Given the description of an element on the screen output the (x, y) to click on. 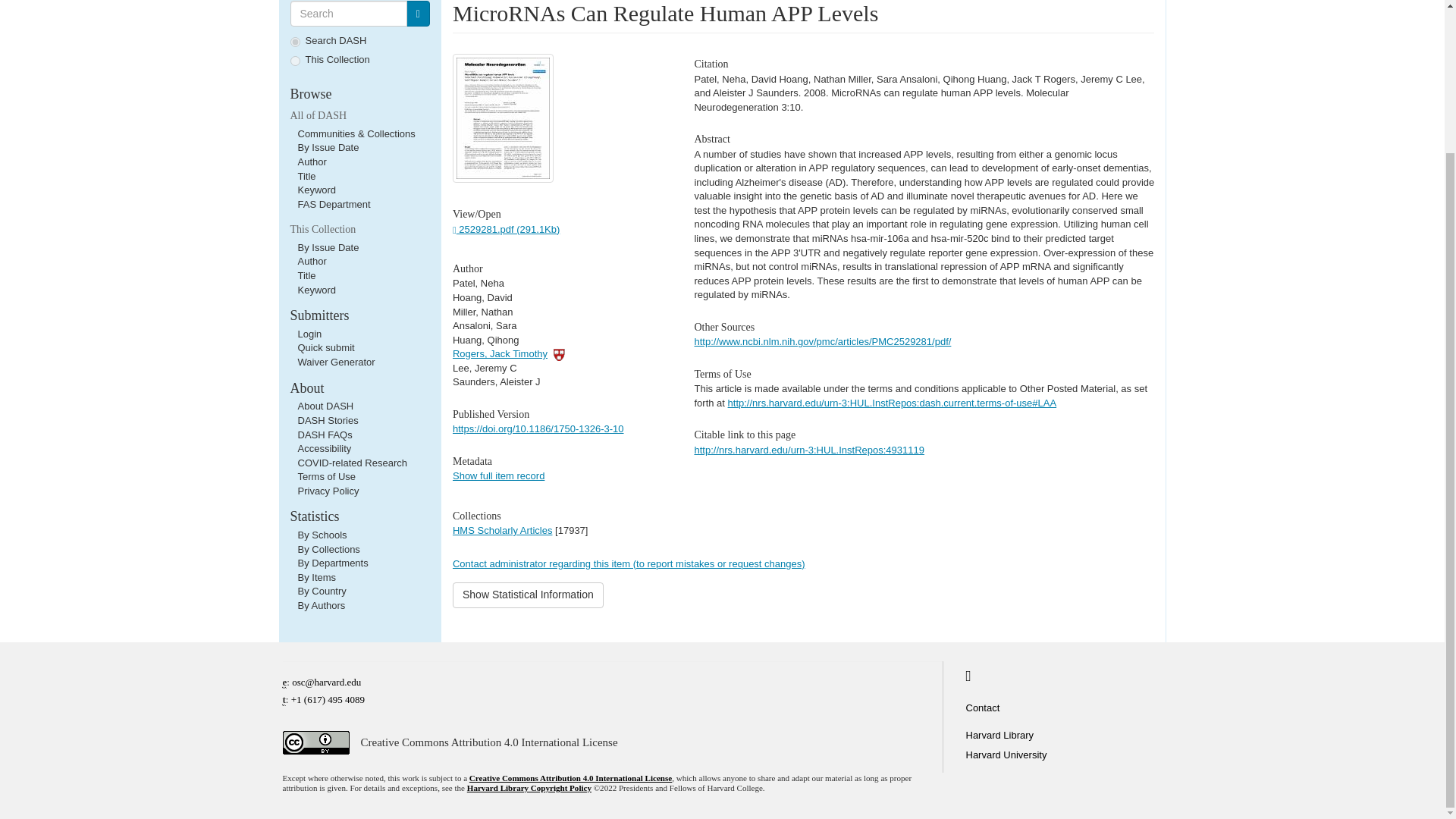
Login (309, 333)
Keyword (316, 289)
HARVARD AFFILIATED (559, 353)
By Issue Date (327, 247)
Go (417, 13)
Title (306, 175)
FAS Department (333, 204)
Keyword (316, 189)
By Issue Date (327, 147)
Quick submit (325, 347)
Author (311, 161)
Waiver Generator (335, 361)
Title (306, 275)
Author (311, 260)
